Given the description of an element on the screen output the (x, y) to click on. 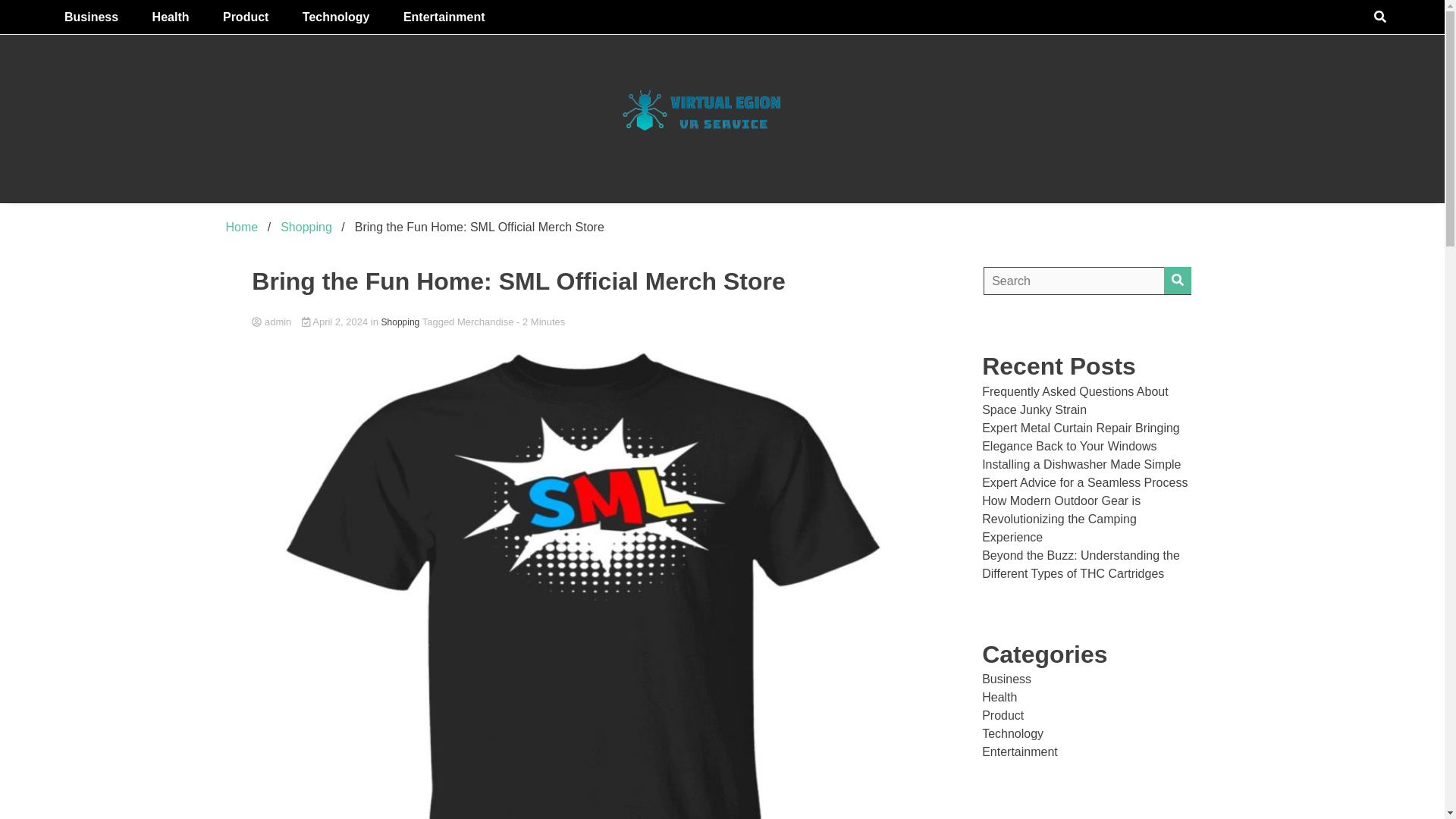
Shopping (400, 322)
Entertainment (444, 17)
Shopping (306, 226)
Product (245, 17)
Estimated Reading Time of Article (540, 321)
April 2, 2024 (336, 321)
Merchandise (485, 321)
Frequently Asked Questions About Space Junky Strain (1074, 400)
admin (582, 322)
Business (91, 17)
Virtual Egion (856, 221)
